Given the description of an element on the screen output the (x, y) to click on. 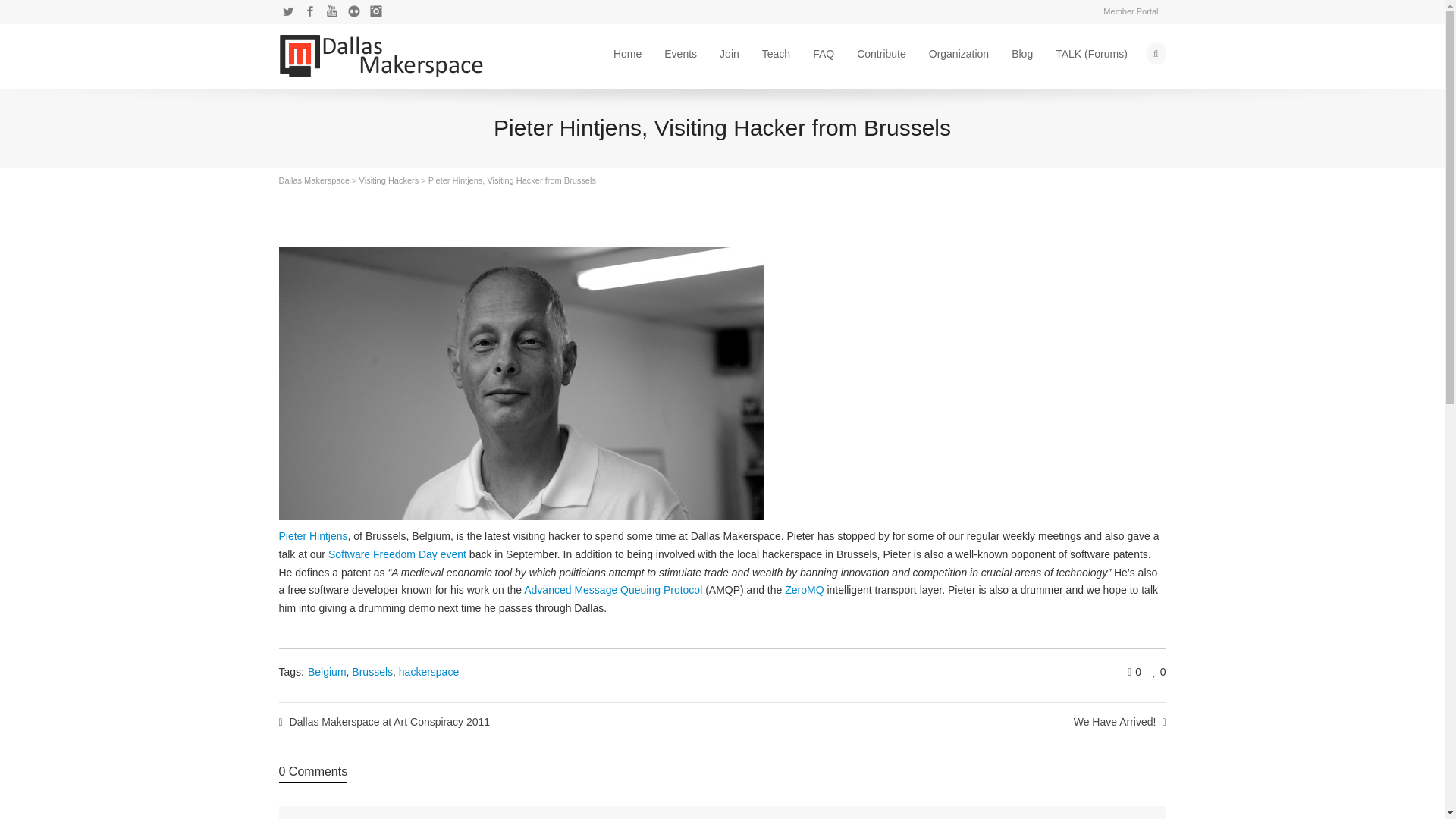
Contribute (881, 53)
Go to the Visiting Hackers category archives. (389, 180)
Facebook (308, 11)
Go to Dallas Makerspace. (314, 180)
Twitter (288, 11)
Member Portal (1131, 11)
Instagram (375, 11)
Organization (958, 53)
Flickr (352, 11)
Events (680, 53)
